Given the description of an element on the screen output the (x, y) to click on. 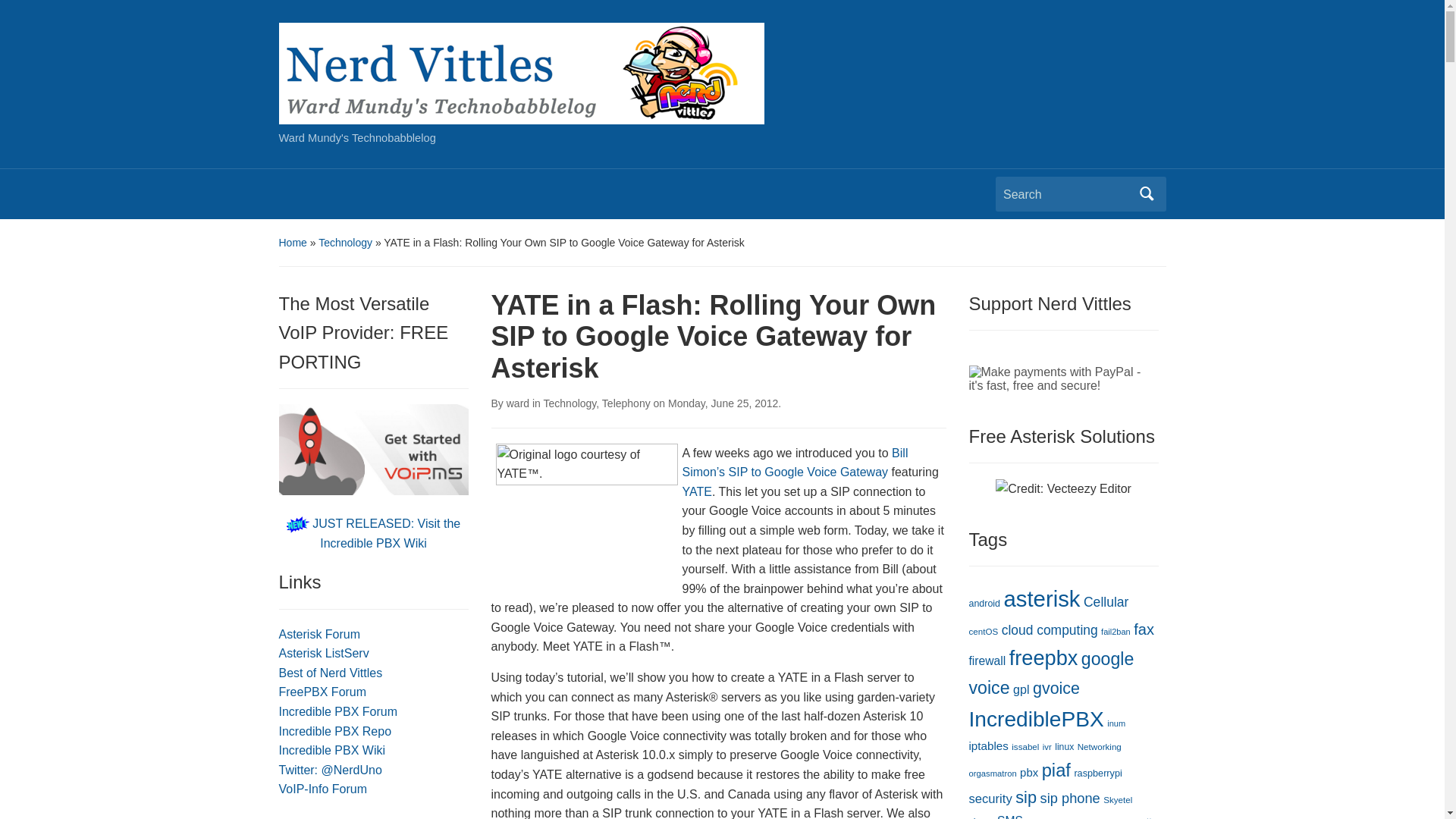
VoIP-Info Forum (323, 788)
Asterisk ListServ (324, 653)
JUST RELEASED: Visit the Incredible PBX Wiki (373, 532)
Technology (345, 242)
Incredible PBX Wiki (332, 749)
Incredible PBX Forum (338, 711)
View all posts by ward (517, 403)
Home (293, 242)
FreePBX Forum (322, 691)
FreePBX Forum from Sangoma (322, 691)
